Given the description of an element on the screen output the (x, y) to click on. 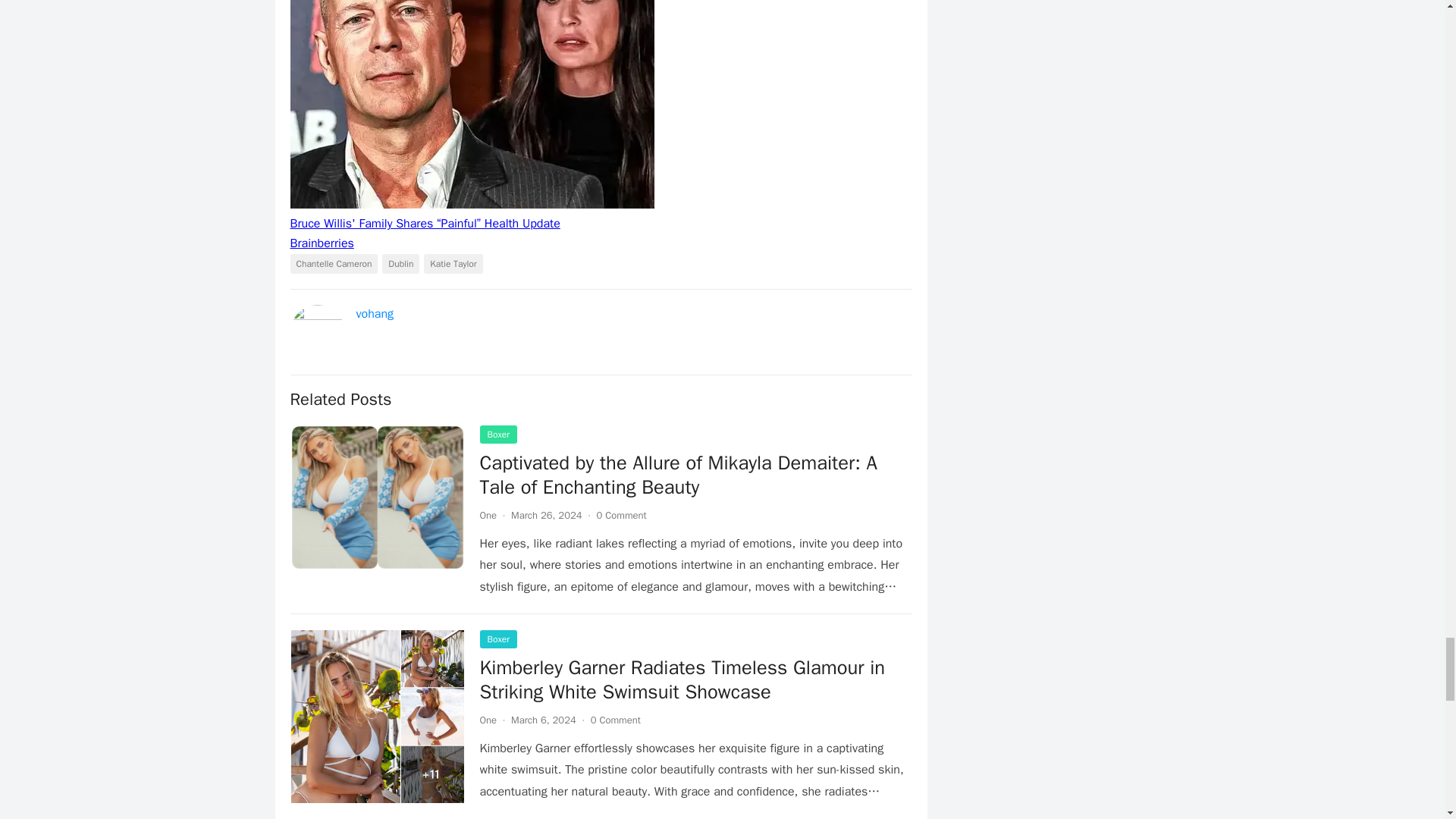
Dublin (400, 263)
Chantelle Cameron (333, 263)
Boxer (497, 638)
One (487, 514)
Posts by One (487, 514)
Posts by One (487, 719)
vohang (375, 313)
Boxer (497, 434)
One (487, 719)
0 Comment (620, 514)
Katie Taylor (452, 263)
